Given the description of an element on the screen output the (x, y) to click on. 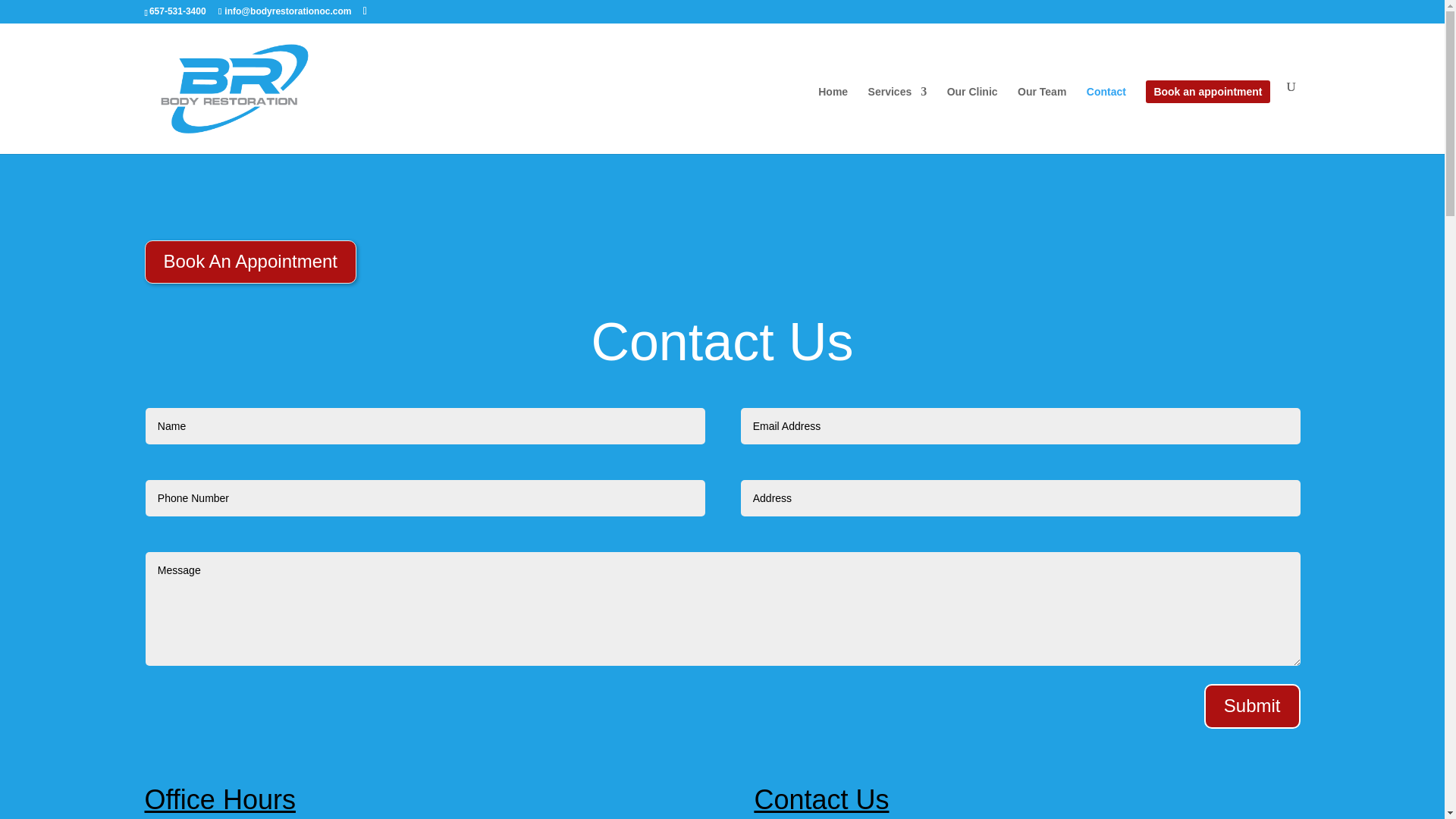
Book an appointment (1207, 119)
Book An Appointment (250, 261)
Submit (1252, 705)
